Given the description of an element on the screen output the (x, y) to click on. 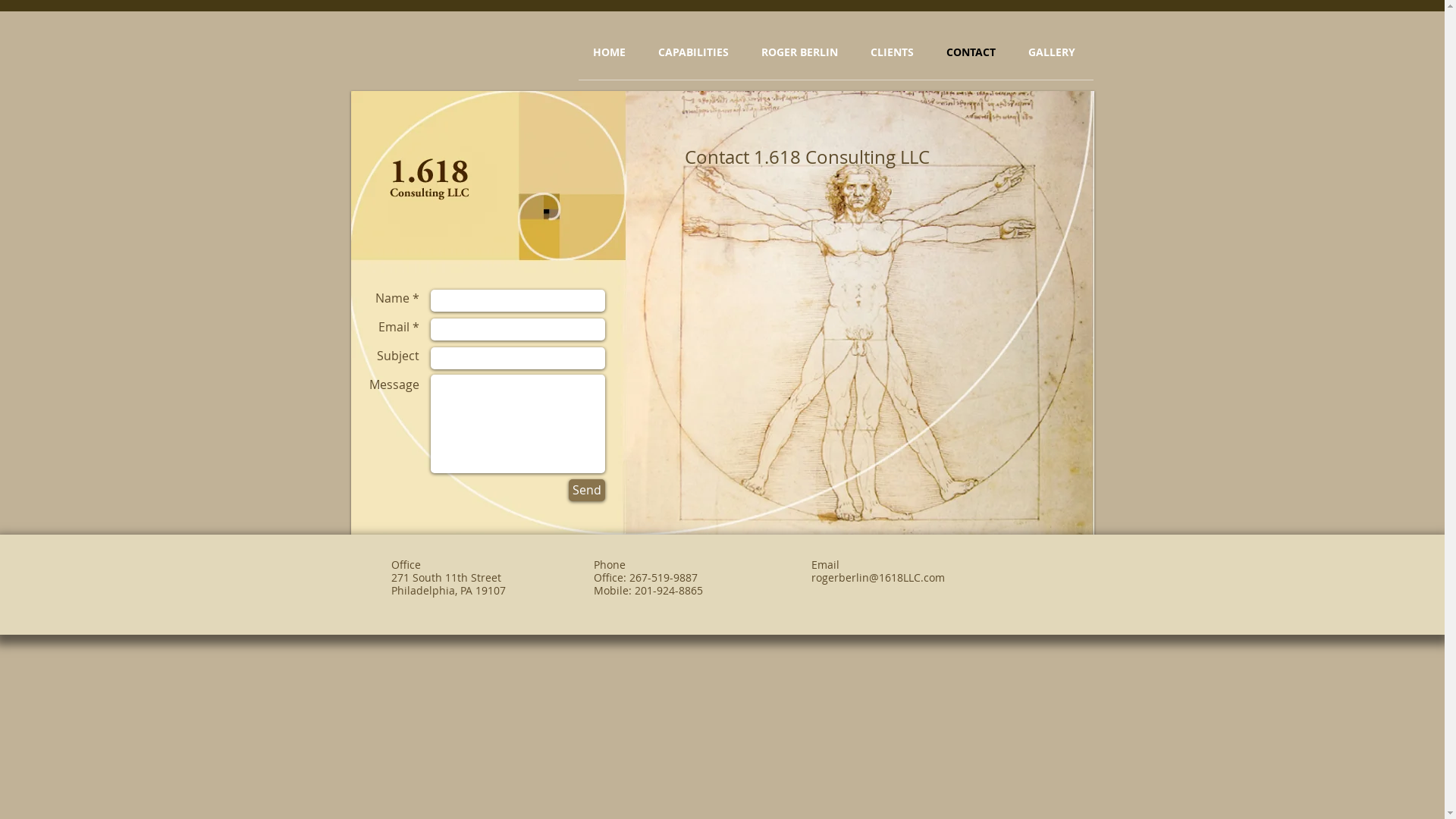
Contact 1.618 Consulting LLC Element type: hover (721, 312)
rogerberlin@1618LLC.com Element type: text (877, 578)
ROGER BERLIN Element type: text (794, 51)
Send Element type: text (586, 490)
HOME Element type: text (603, 51)
CONTACT Element type: text (966, 51)
GALLERY Element type: text (1046, 51)
CLIENTS Element type: text (887, 51)
CAPABILITIES Element type: text (688, 51)
